Given the description of an element on the screen output the (x, y) to click on. 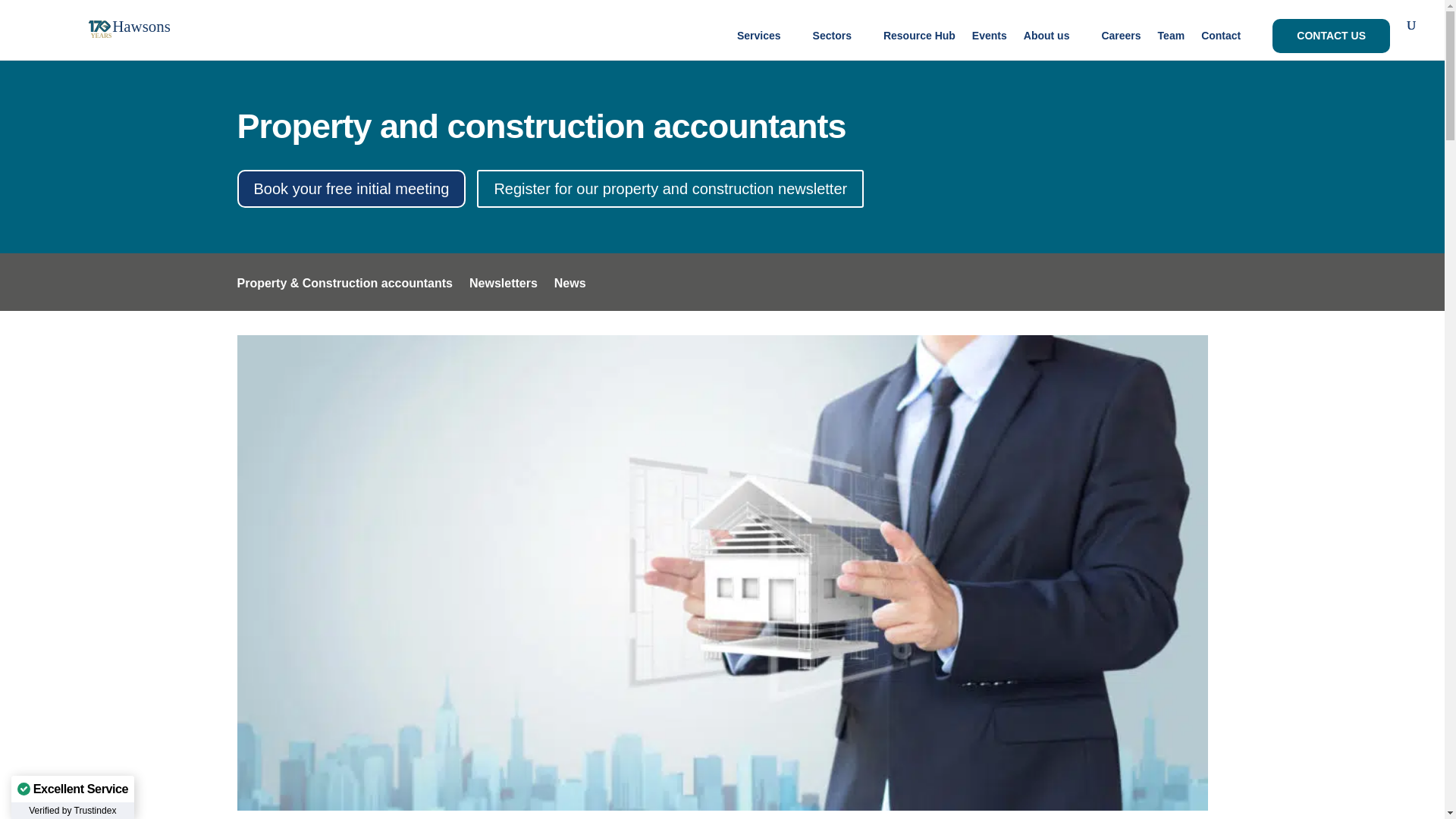
Team (1171, 44)
Register for our property and construction newsletter (670, 188)
Events (989, 44)
Services (766, 44)
Book your free initial meeting (350, 188)
Sectors (839, 44)
CONTACT US (1331, 35)
About us (1053, 44)
Careers (1120, 44)
